Given the description of an element on the screen output the (x, y) to click on. 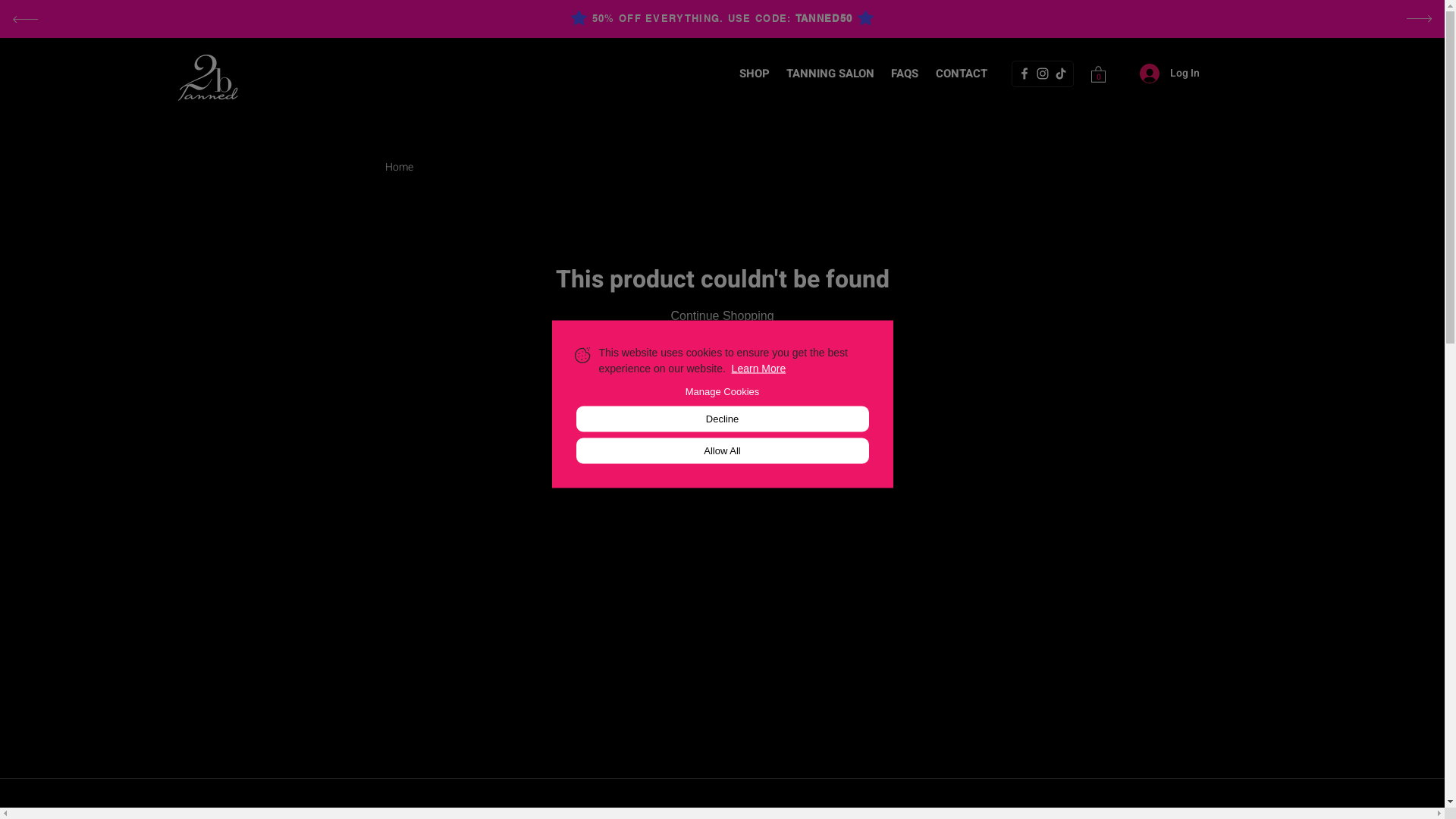
Home Element type: text (399, 167)
Learn More Element type: text (758, 367)
Continue Shopping Element type: text (721, 315)
Allow All Element type: text (722, 450)
2B Tanned Element type: hover (208, 76)
SHOP Element type: text (754, 73)
CONTACT Element type: text (961, 73)
Decline Element type: text (722, 418)
FAQS Element type: text (904, 73)
0 Element type: text (1098, 73)
TANNING SALON Element type: text (830, 73)
Manage Cookies Element type: text (722, 390)
Log In Element type: text (1169, 73)
